Given the description of an element on the screen output the (x, y) to click on. 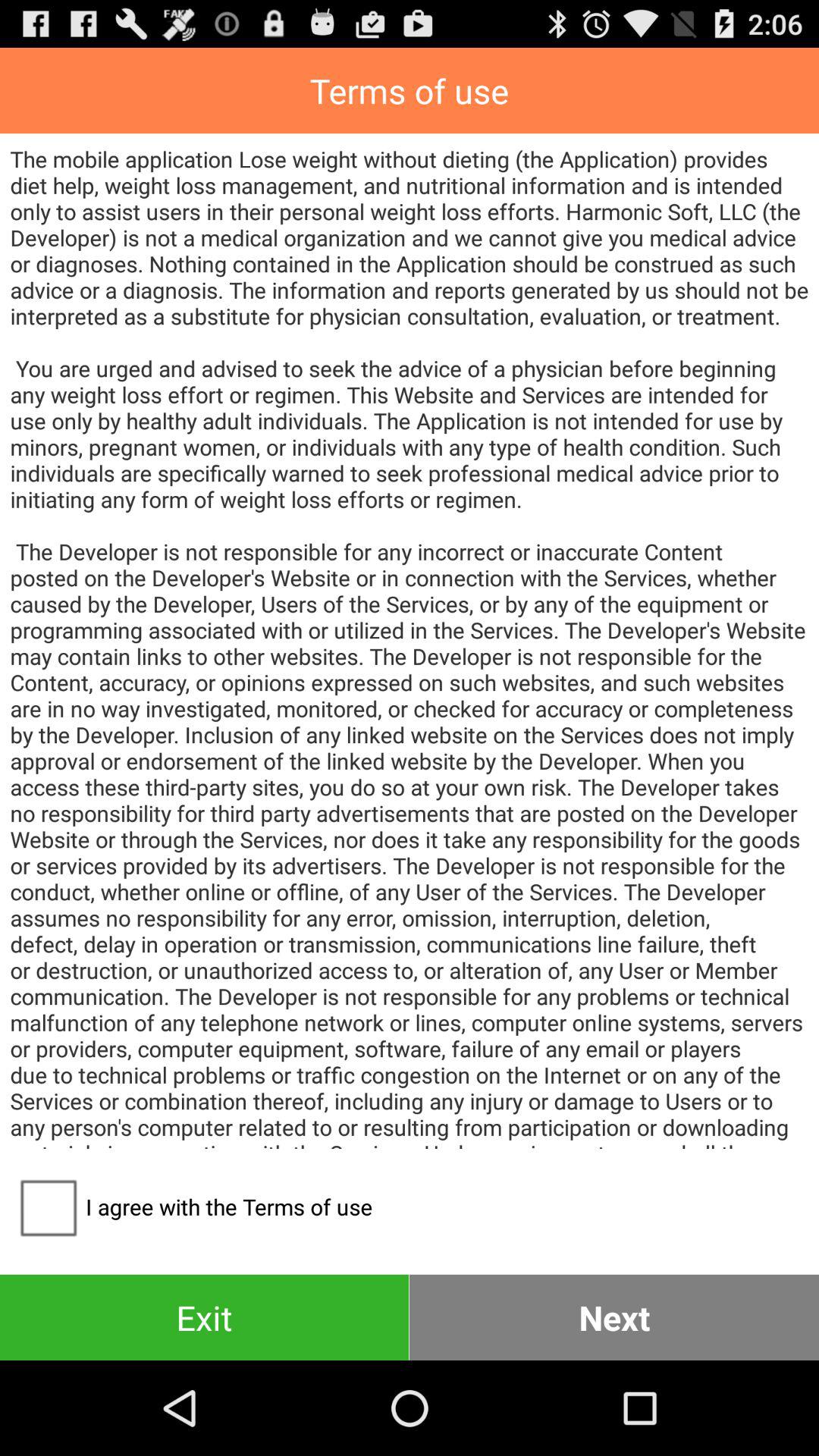
scroll until the i agree with (191, 1206)
